Given the description of an element on the screen output the (x, y) to click on. 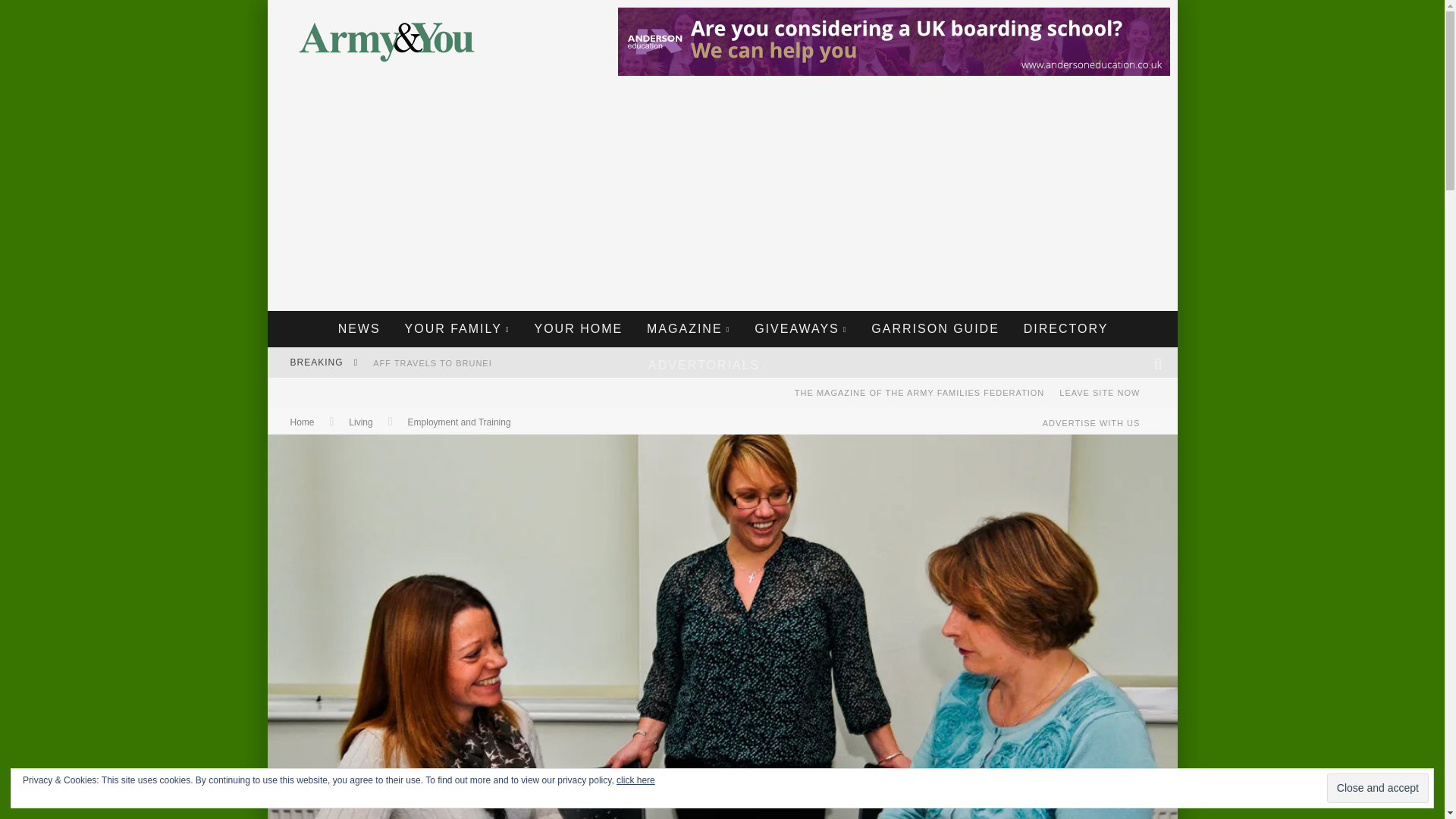
NEWS (358, 329)
Close and accept (1377, 788)
AFF travels to Brunei (432, 362)
View all posts in Employment and Training (459, 421)
View all posts in Living (360, 421)
